Given the description of an element on the screen output the (x, y) to click on. 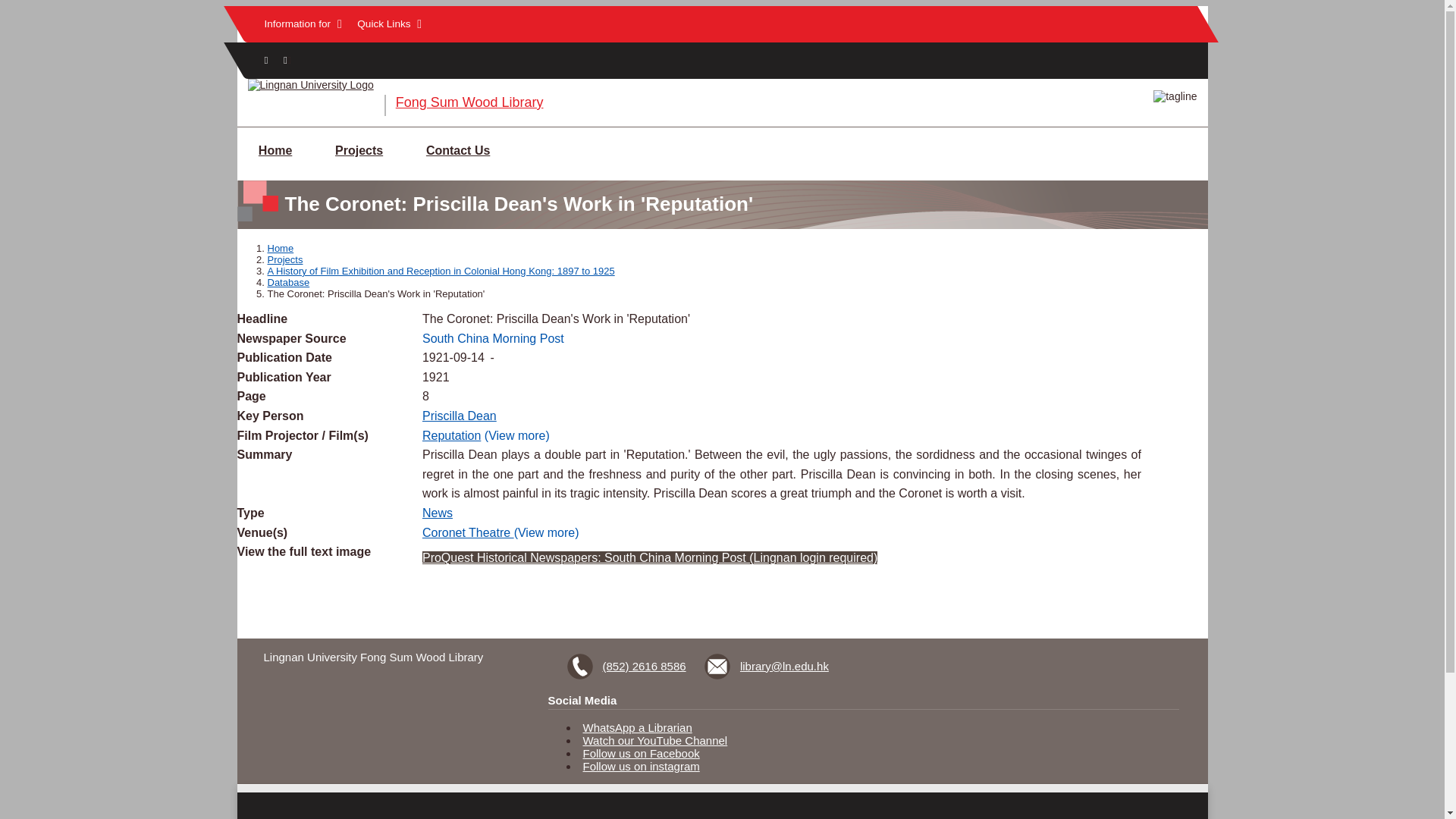
Fong Sum Wood Library (469, 102)
Coronet Theatre (467, 532)
Lingnan University (309, 84)
Phone Number (629, 666)
Fong Sum Wood Library (469, 102)
Follow us on Facebook (641, 753)
Skip to main content (722, 7)
Follow us on instagram (641, 766)
Quick Links (389, 23)
Watch our YouTube Channel (655, 739)
